Given the description of an element on the screen output the (x, y) to click on. 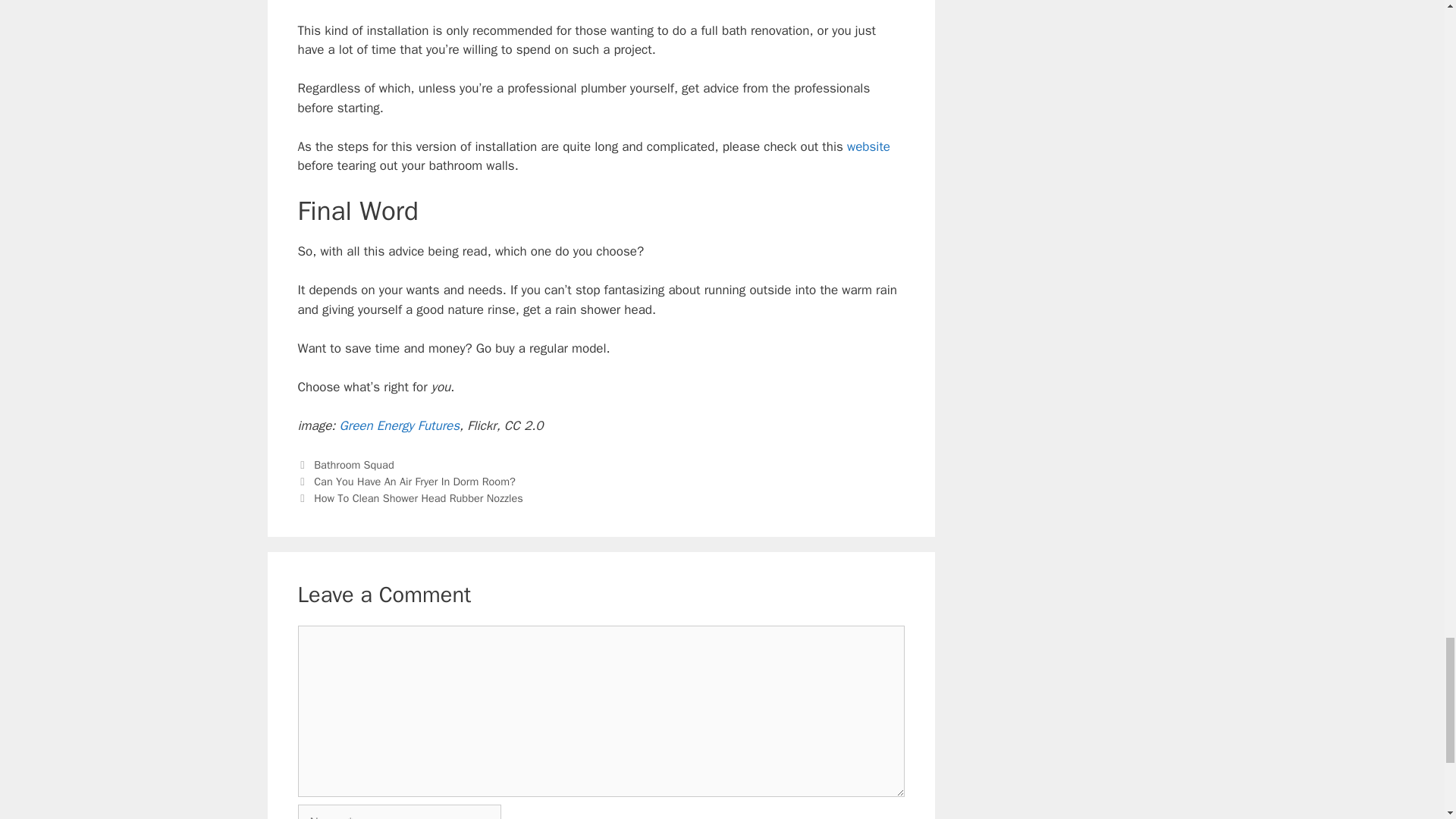
Green Energy Futures (399, 425)
How To Clean Shower Head Rubber Nozzles (418, 498)
website (868, 146)
Can You Have An Air Fryer In Dorm Room? (414, 481)
Bathroom Squad (354, 464)
